Given the description of an element on the screen output the (x, y) to click on. 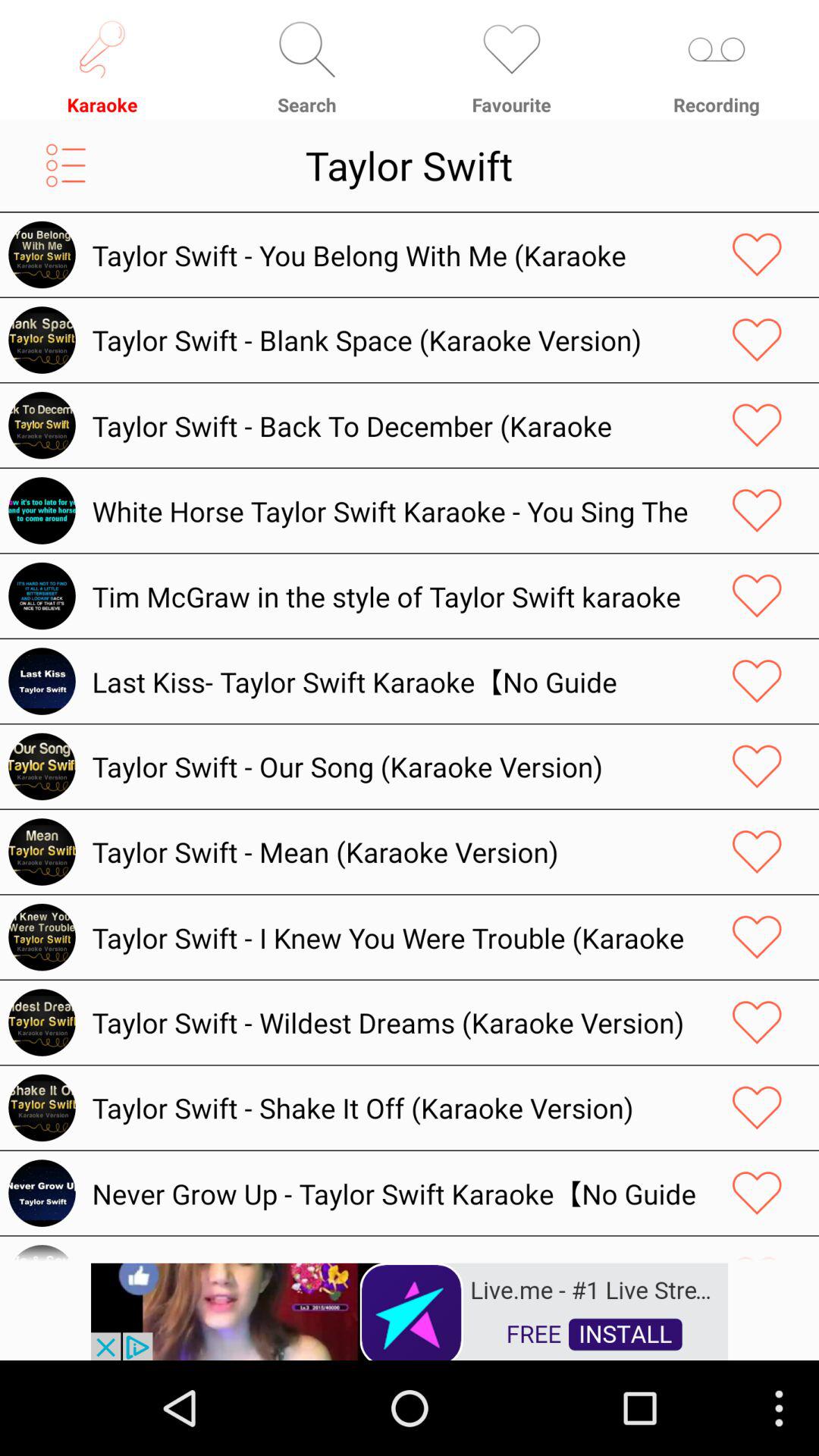
like the song (756, 1193)
